Given the description of an element on the screen output the (x, y) to click on. 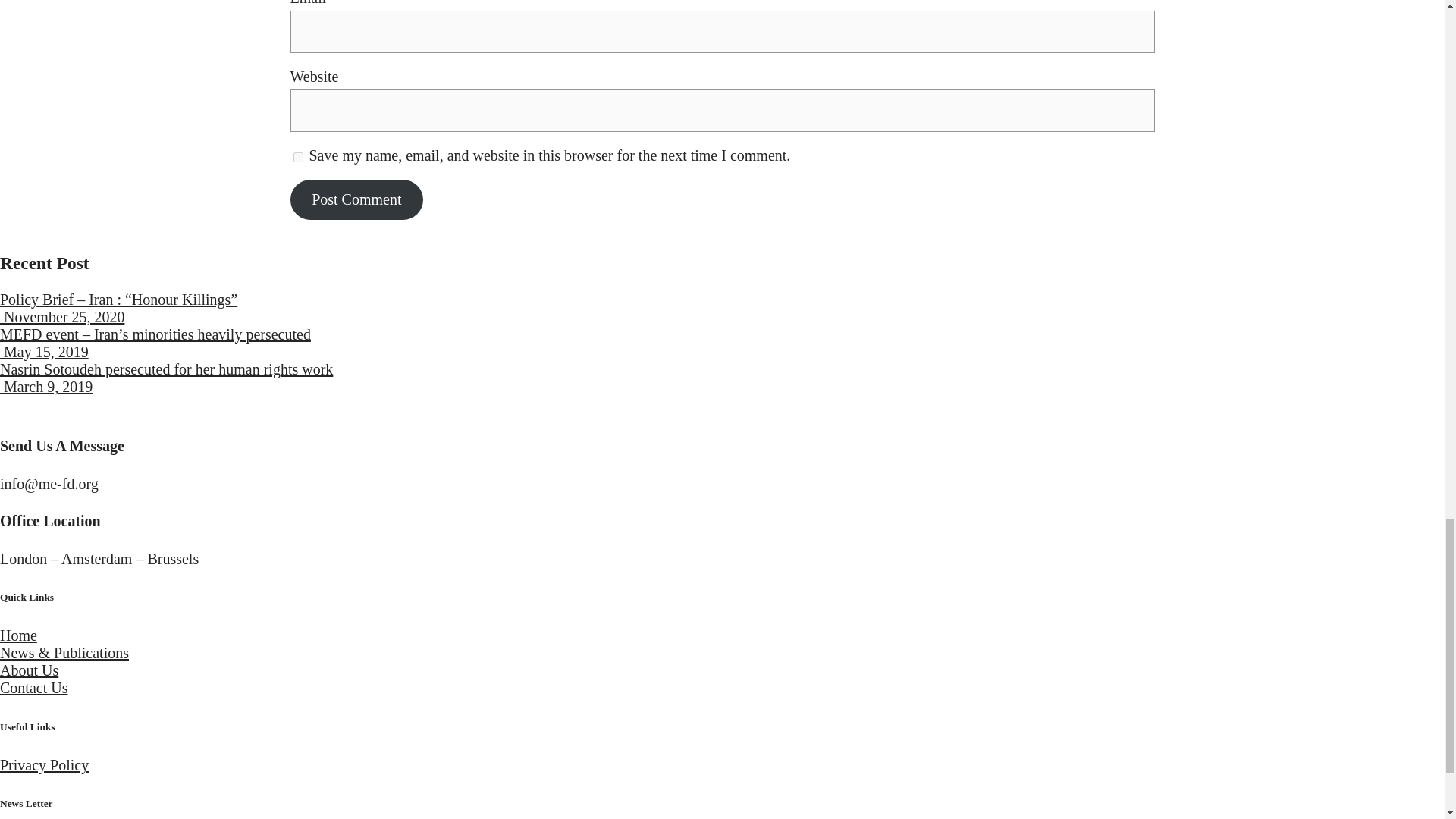
Contact Us (33, 687)
About Us (29, 669)
Home (18, 635)
Post Comment (356, 199)
yes (297, 157)
Post Comment (356, 199)
Privacy Policy (44, 764)
